Given the description of an element on the screen output the (x, y) to click on. 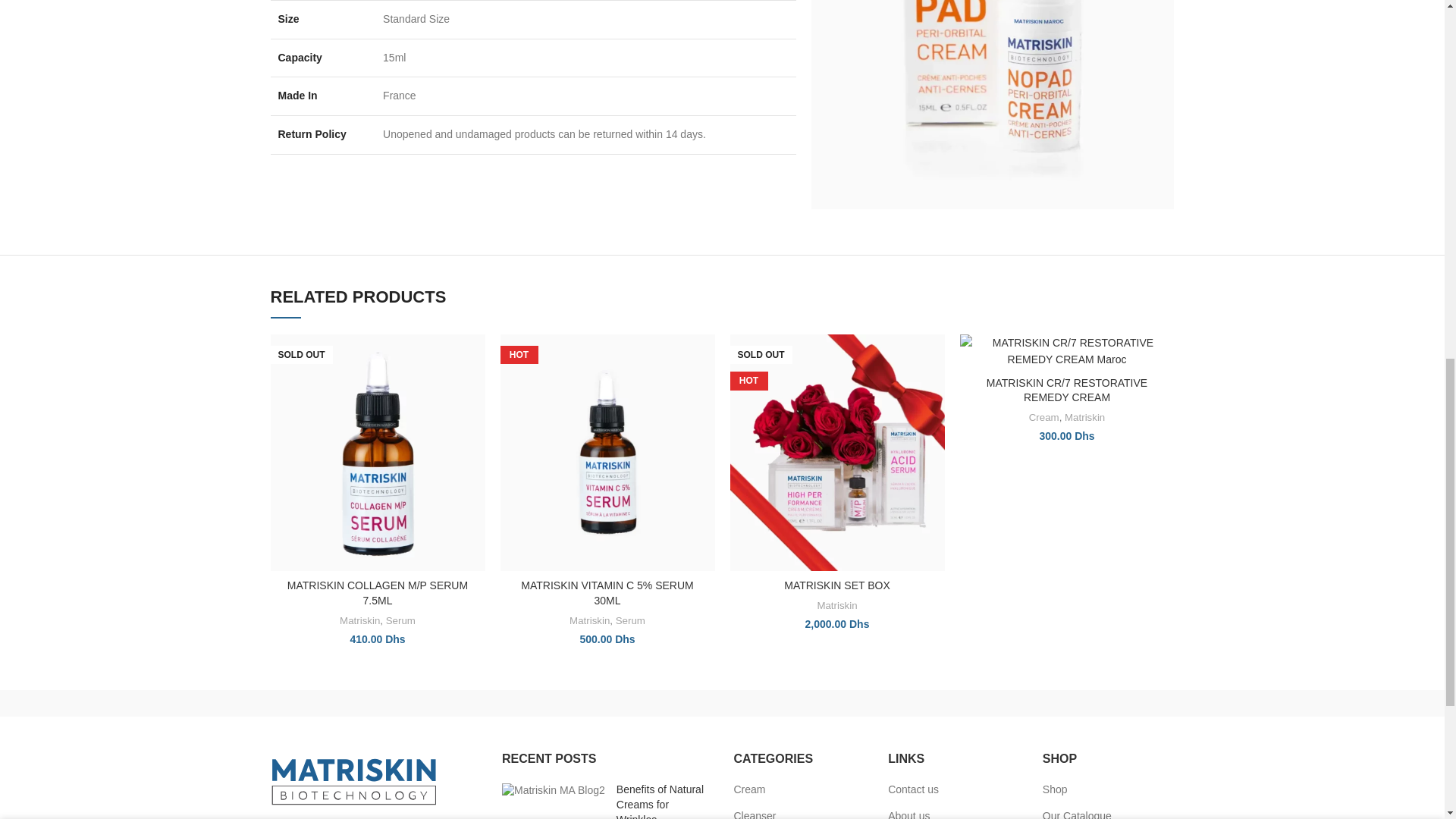
Matreskin-Maroc-logo-b1 (352, 781)
Permalink to Benefits of Natural Creams for Wrinkles (659, 800)
Matriskin MA Blog2 (553, 790)
